Given the description of an element on the screen output the (x, y) to click on. 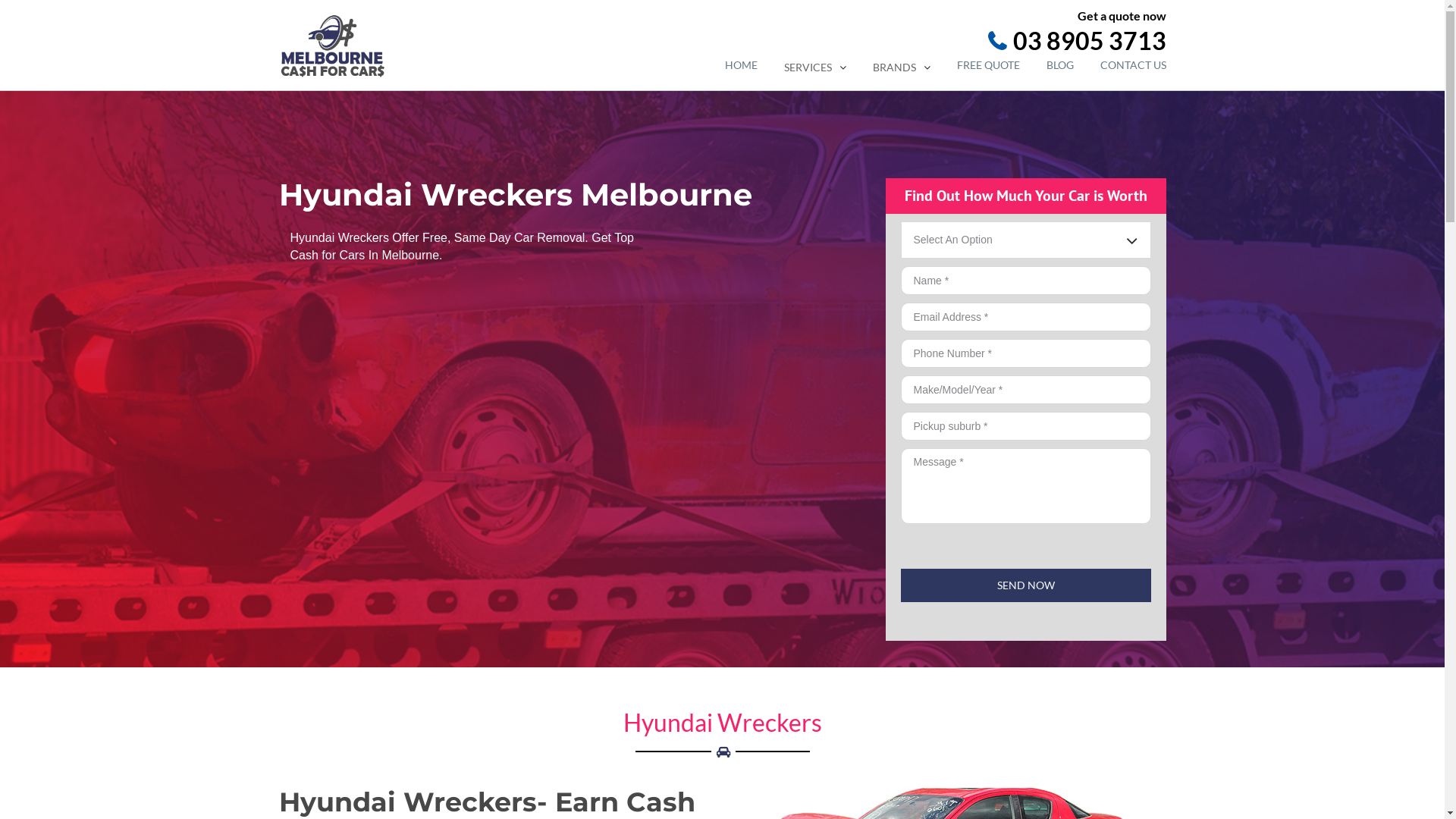
SERVICES Element type: text (815, 66)
03 8905 3713 Element type: text (931, 40)
HOME Element type: text (740, 64)
BRANDS Element type: text (900, 66)
CONTACT US Element type: text (1132, 64)
Send Now Element type: text (1025, 585)
FREE QUOTE Element type: text (988, 64)
BLOG Element type: text (1059, 64)
